Given the description of an element on the screen output the (x, y) to click on. 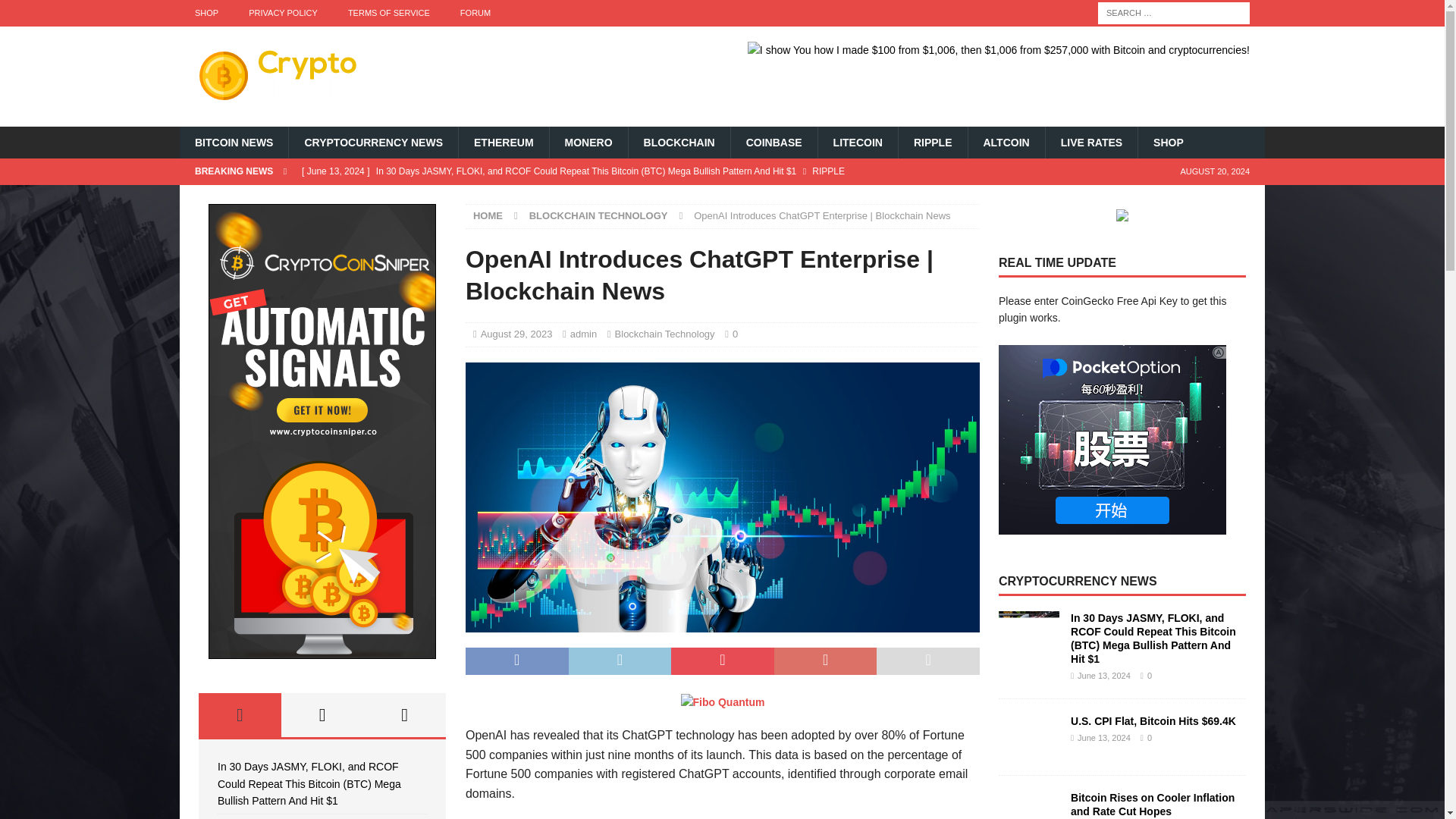
BLOCKCHAIN (678, 142)
CRYPTOCURRENCY NEWS (373, 142)
LIVE RATES (1091, 142)
SHOP (1167, 142)
SHOP (205, 13)
TERMS OF SERVICE (389, 13)
MONERO (587, 142)
ETHEREUM (503, 142)
BITCOIN NEWS (233, 142)
RIPPLE (933, 142)
